Given the description of an element on the screen output the (x, y) to click on. 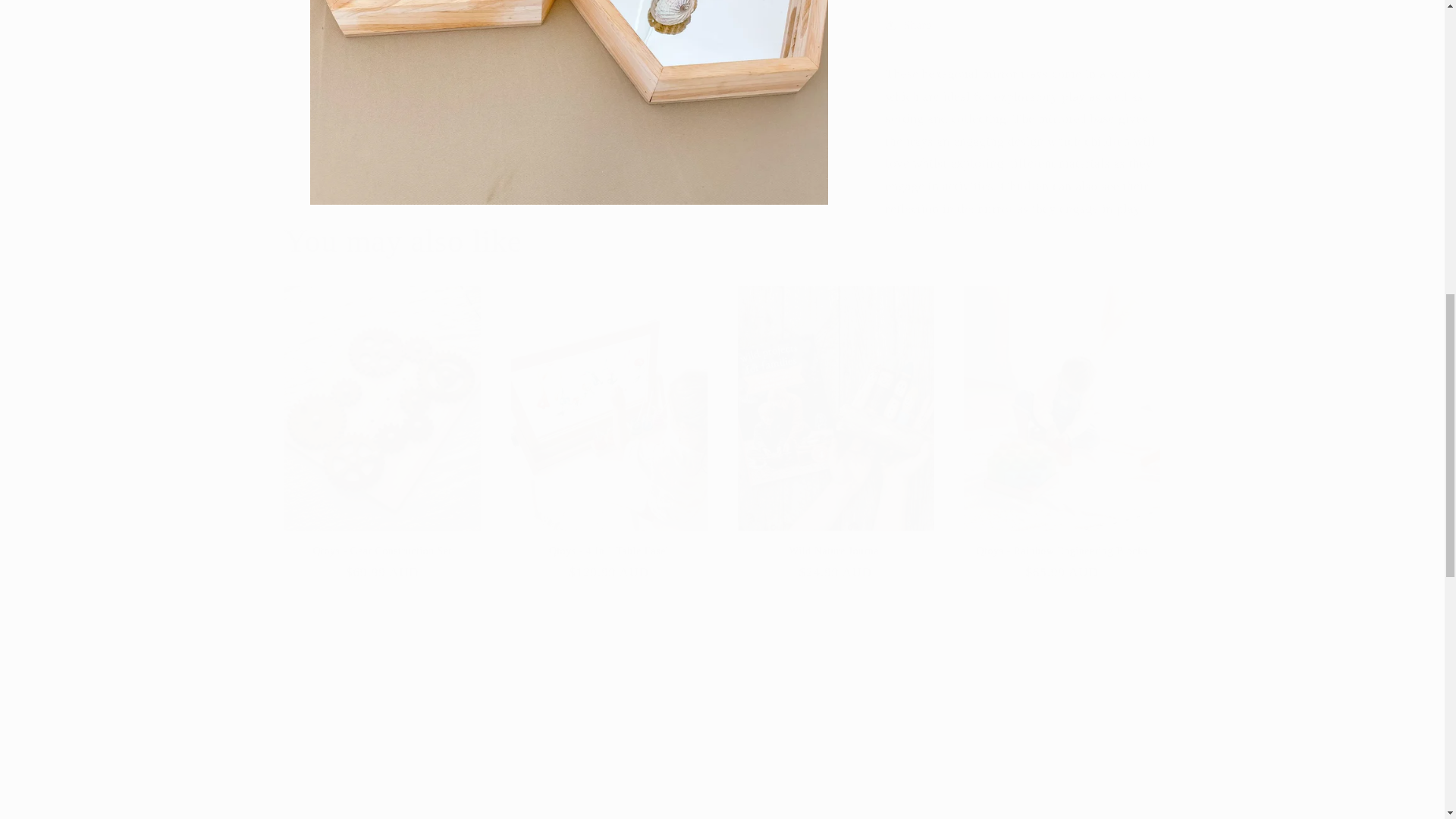
Open media 1 in modal (568, 93)
